Given the description of an element on the screen output the (x, y) to click on. 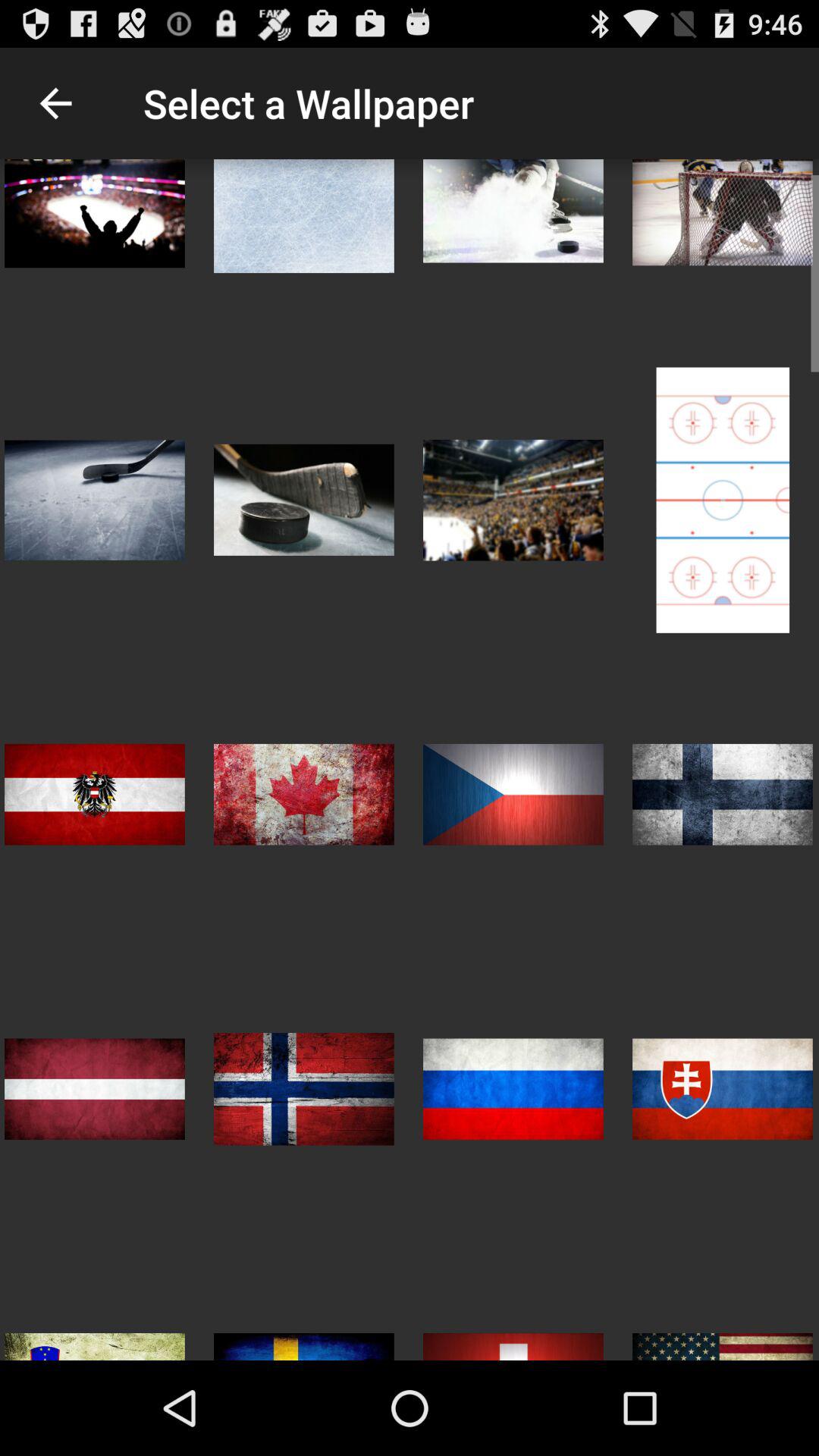
tap icon to the left of select a wallpaper item (55, 103)
